Given the description of an element on the screen output the (x, y) to click on. 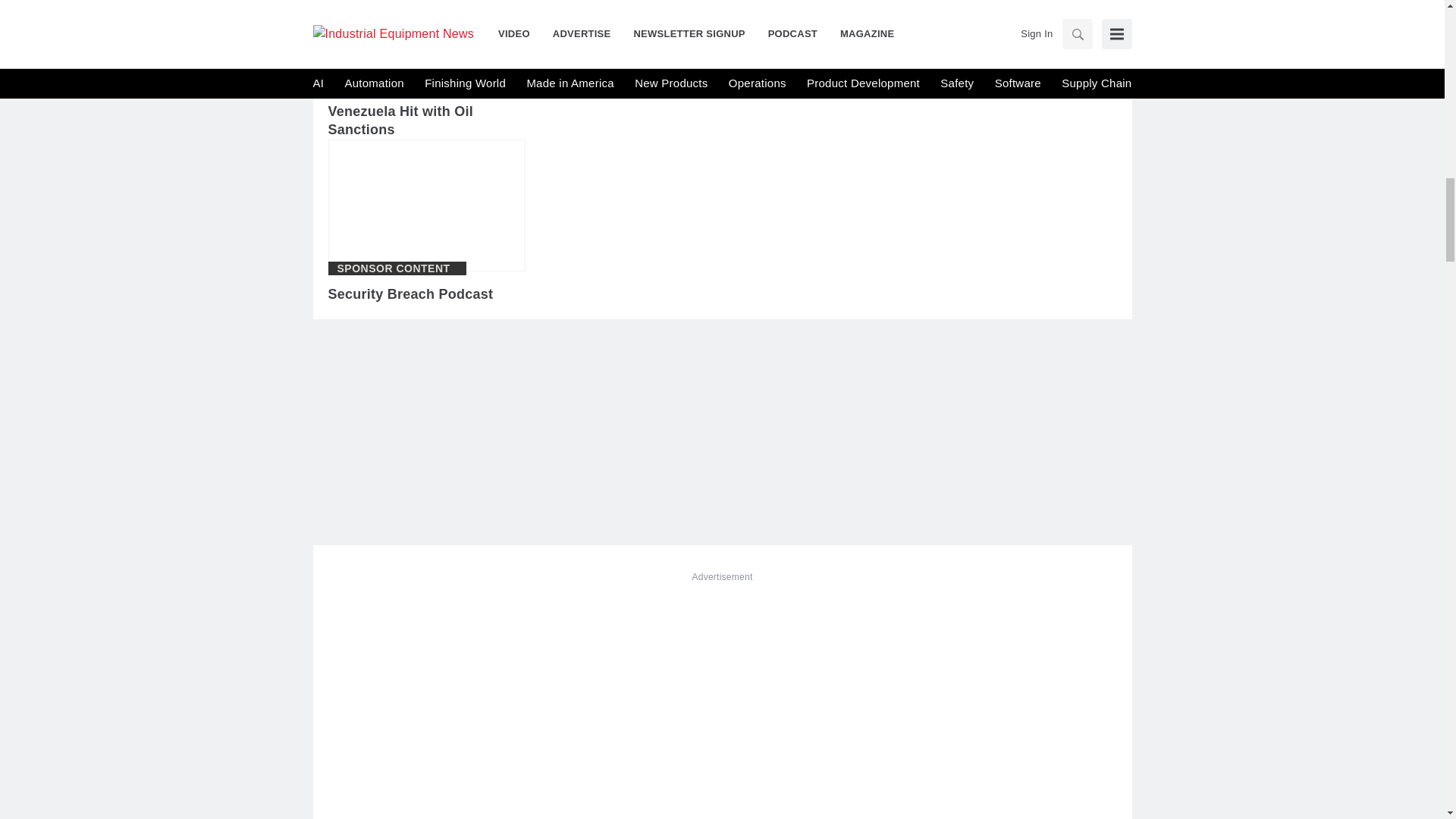
Sponsor Content (392, 267)
Regulation (373, 85)
